Given the description of an element on the screen output the (x, y) to click on. 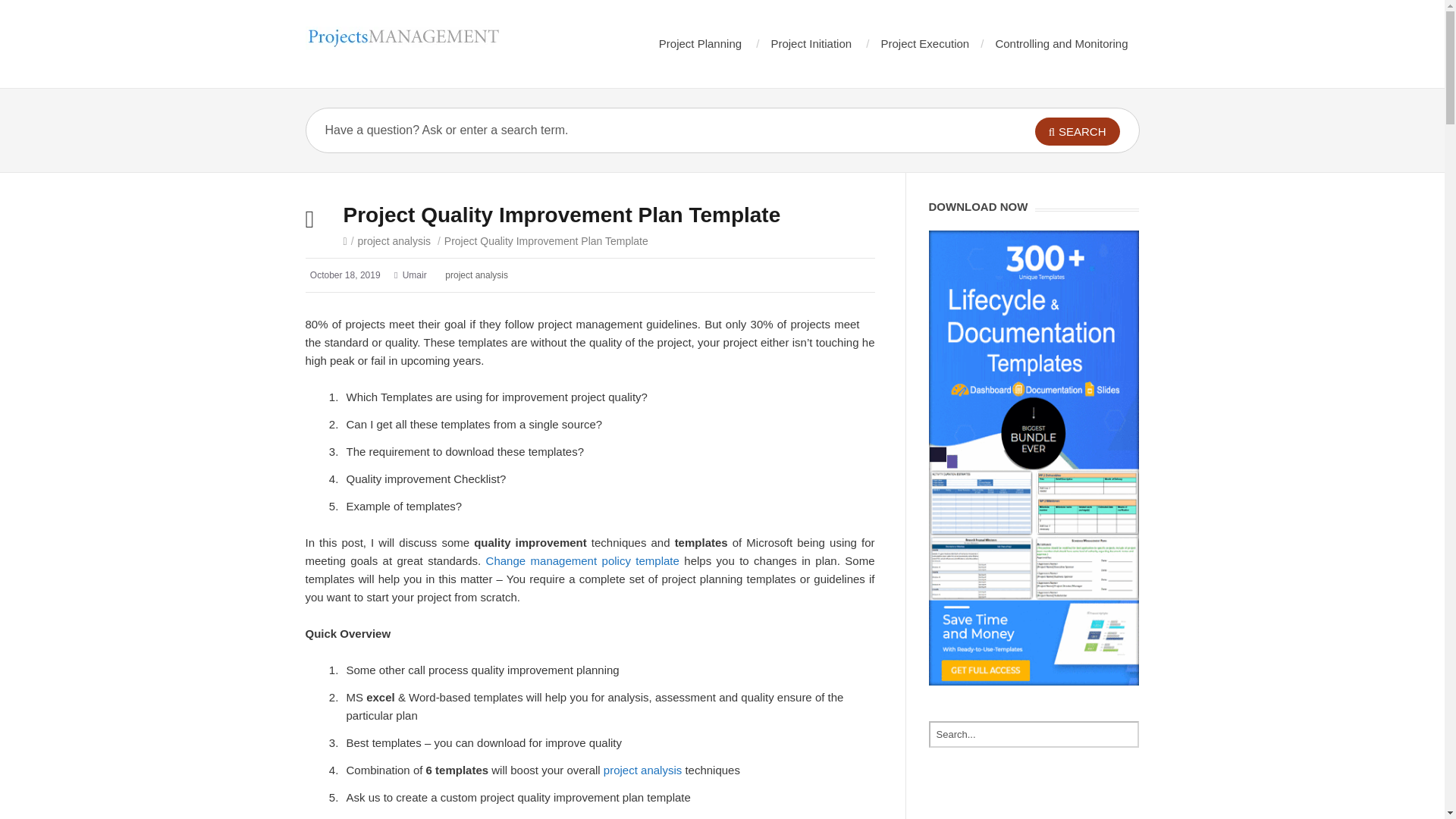
project analysis (642, 769)
Project Planning (700, 42)
Search... (1033, 734)
project analysis (394, 241)
Project Initiation (810, 42)
View all posts in project analysis (394, 241)
Project Execution (924, 42)
Change management policy template (582, 560)
Controlling and Monitoring (1060, 42)
Have a question? Ask or enter a search term. (638, 130)
Project Management Documentation Template (401, 37)
project analysis (476, 275)
SEARCH (1077, 131)
